Given the description of an element on the screen output the (x, y) to click on. 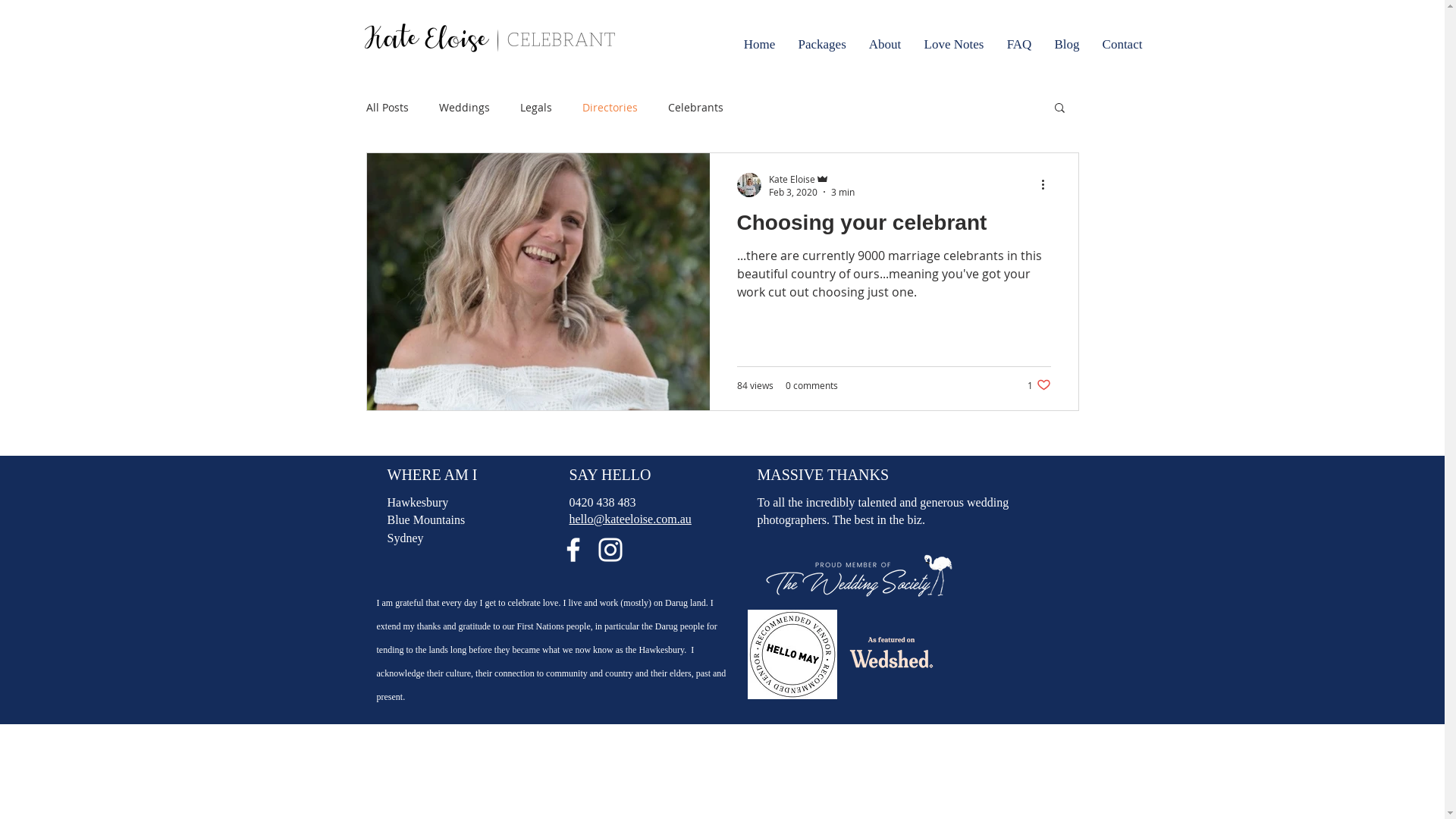
1 like. Post not marked as liked
1 Element type: text (1038, 384)
Choosing your celebrant Element type: text (894, 226)
All Posts Element type: text (386, 107)
Weddings Element type: text (463, 107)
Legals Element type: text (536, 107)
Celebrants Element type: text (694, 107)
0 comments Element type: text (811, 385)
Contact Element type: text (1121, 44)
Kate Eloise Element type: text (811, 178)
Blog Element type: text (1067, 44)
FAQ Element type: text (1018, 44)
Love Notes Element type: text (954, 44)
Home Element type: text (759, 44)
About Element type: text (884, 44)
hello@kateeloise.com.au Element type: text (629, 518)
Directories Element type: text (609, 107)
Packages Element type: text (822, 44)
